Given the description of an element on the screen output the (x, y) to click on. 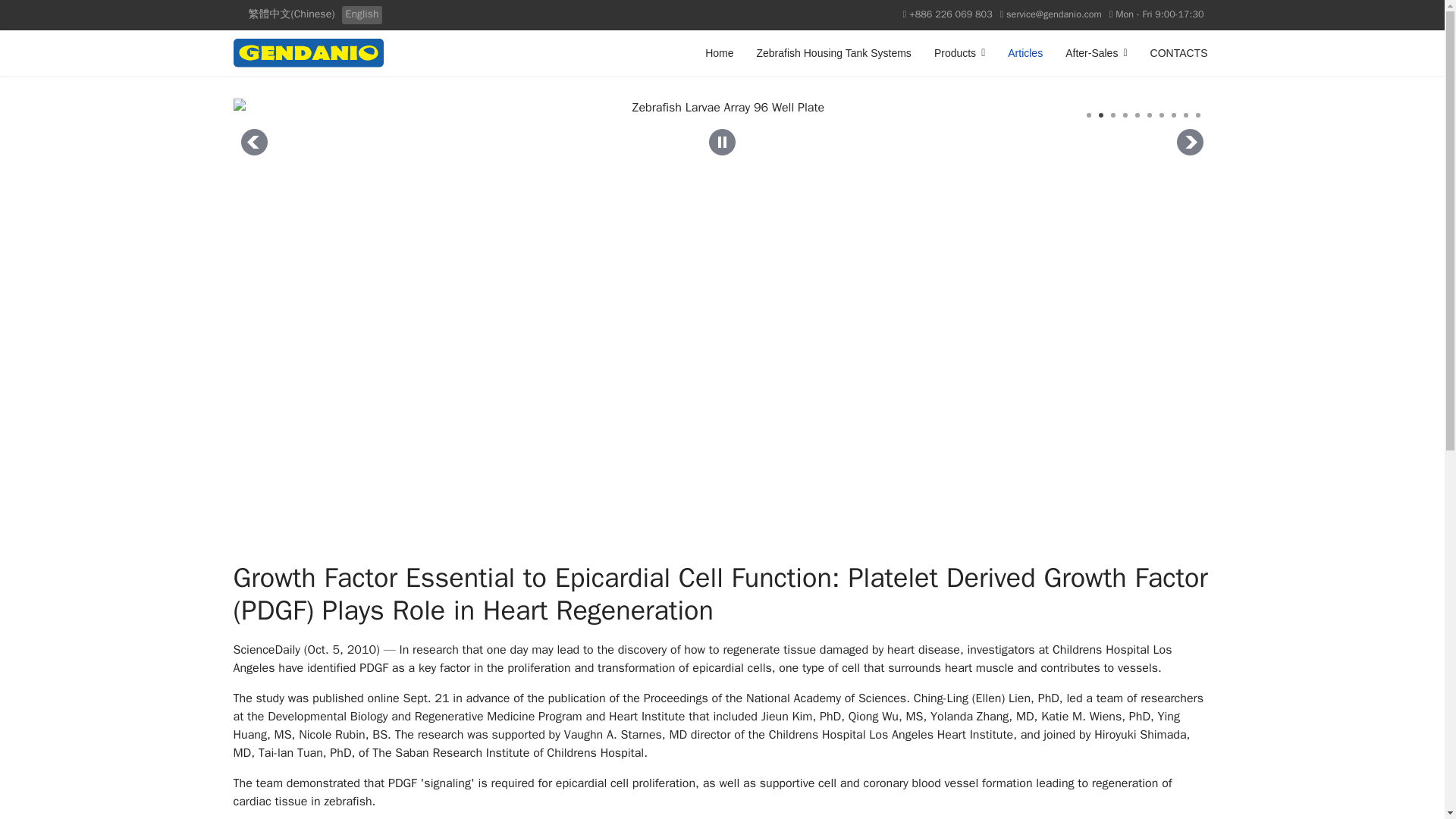
CONTACTS (1173, 53)
Products (959, 53)
Articles (1024, 53)
English (362, 13)
Zebrafish Housing Tank Systems (832, 53)
After-Sales (1096, 53)
Home (719, 53)
